Given the description of an element on the screen output the (x, y) to click on. 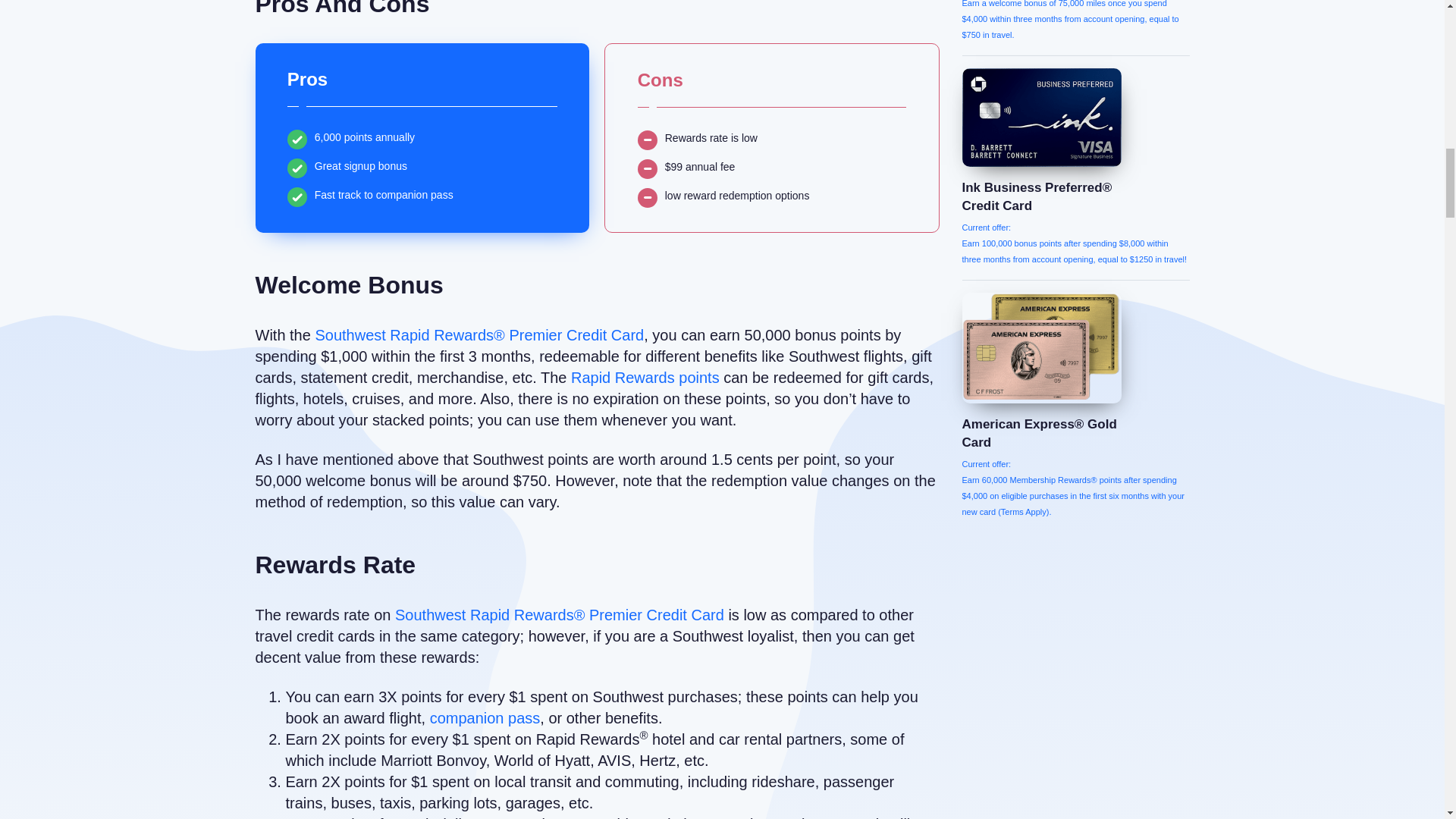
companion pass (484, 718)
Rapid Rewards points (644, 377)
